Given the description of an element on the screen output the (x, y) to click on. 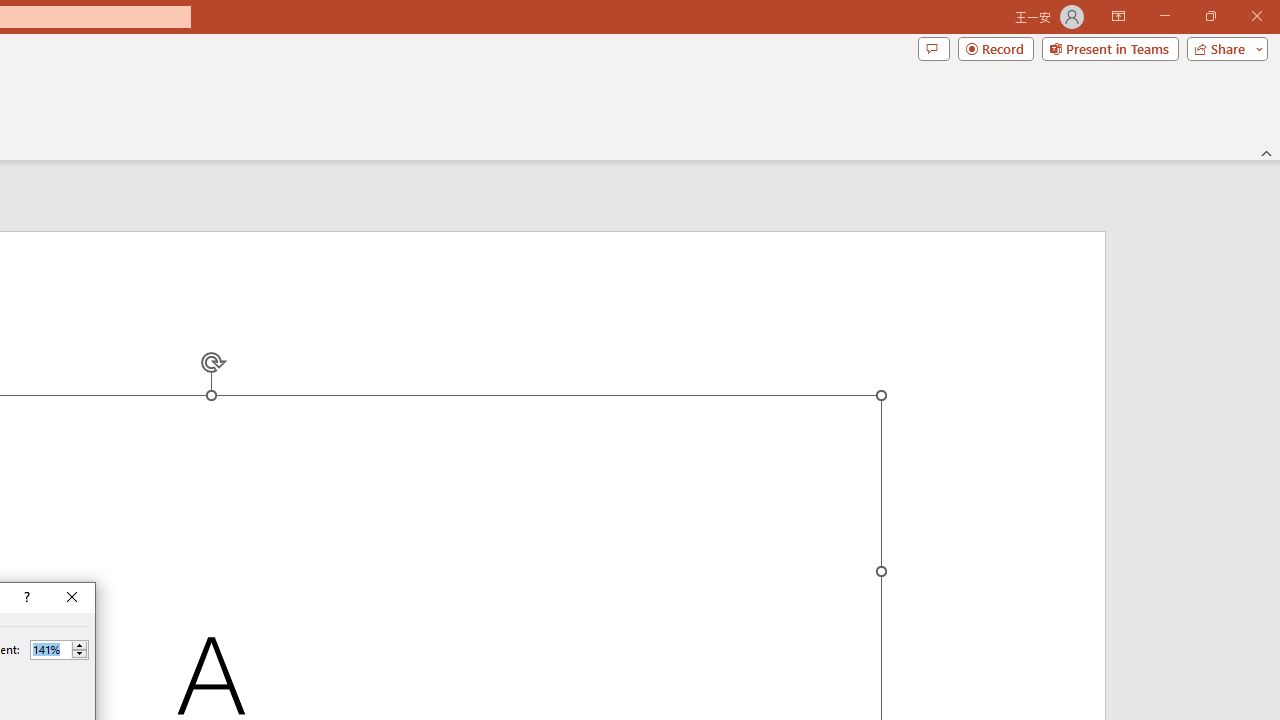
Percent (50, 649)
Context help (25, 597)
Percent (59, 650)
